Given the description of an element on the screen output the (x, y) to click on. 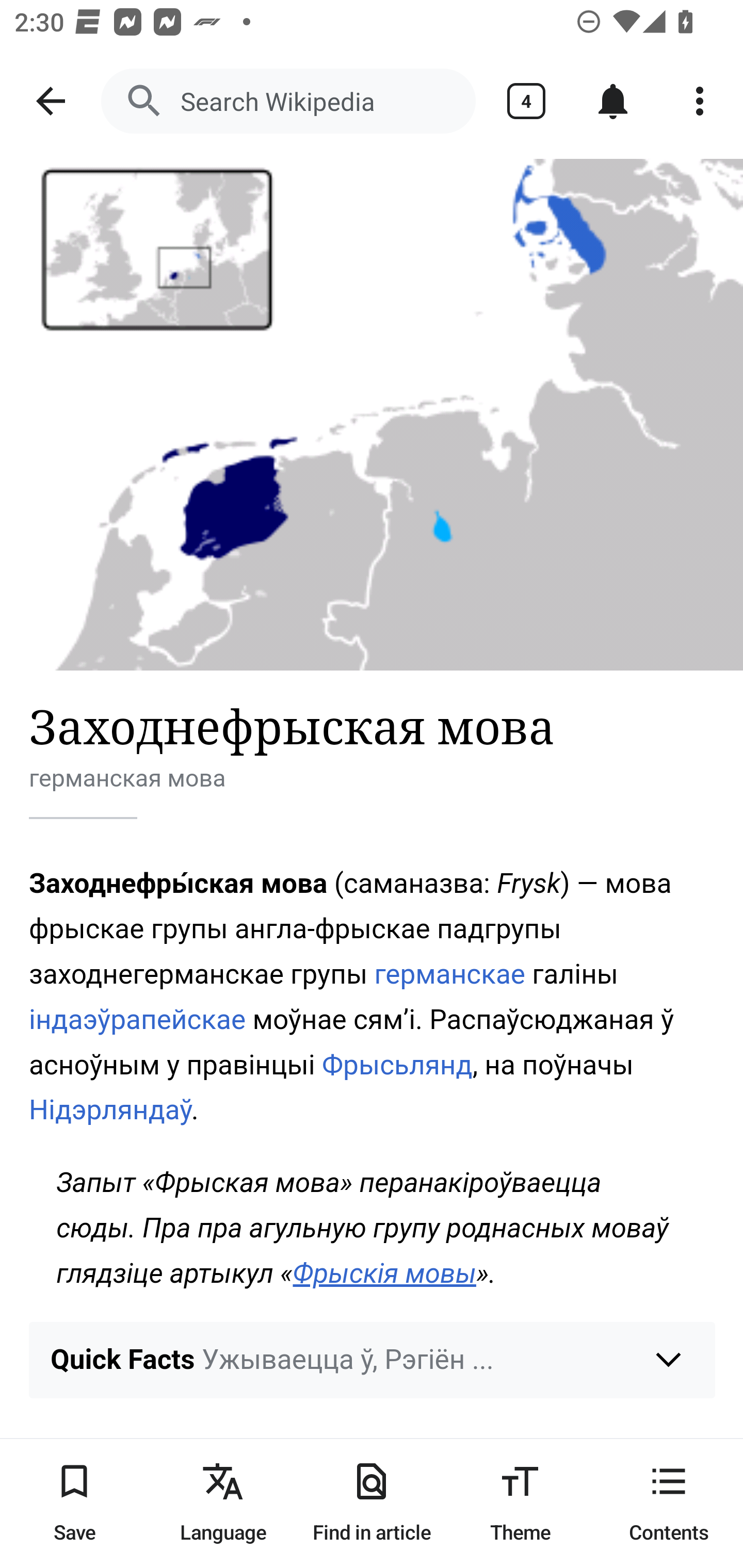
Show tabs 4 (525, 100)
Notifications (612, 100)
Navigate up (50, 101)
More options (699, 101)
Search Wikipedia (288, 100)
Image: Заходнефрыская мова (371, 414)
германскае (450, 973)
індаэўрапейскае (137, 1018)
Фрысьлянд (397, 1063)
Нідэрляндаў (110, 1109)
Фрыскія мовы (384, 1272)
Quick Facts  Ужываецца ў, Рэгіён ... Expand table (372, 1359)
Save (74, 1502)
Language (222, 1502)
Find in article (371, 1502)
Theme (519, 1502)
Contents (668, 1502)
